Given the description of an element on the screen output the (x, y) to click on. 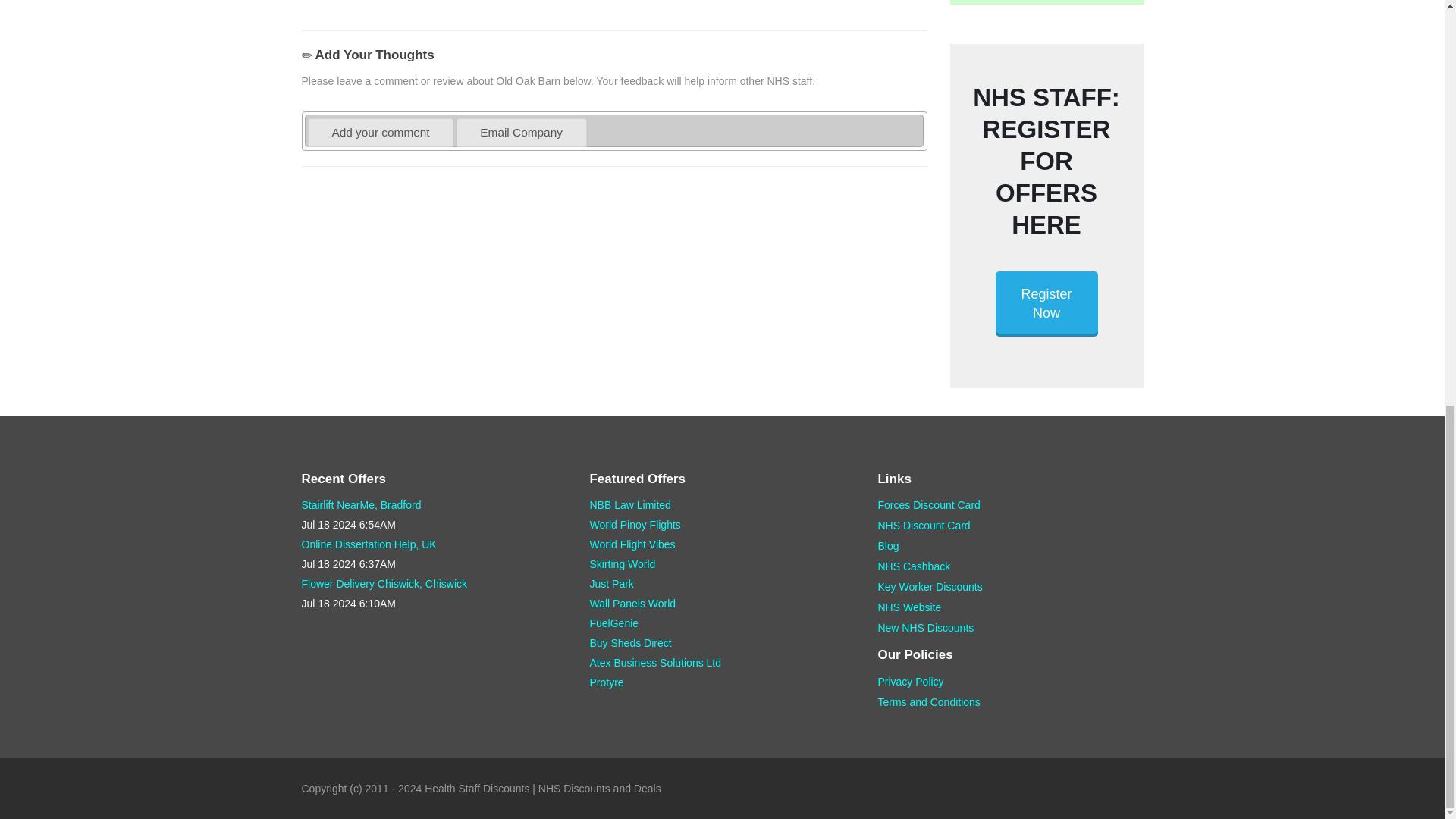
Add your comment (380, 131)
Register Now (1045, 303)
Email Company (521, 131)
